Given the description of an element on the screen output the (x, y) to click on. 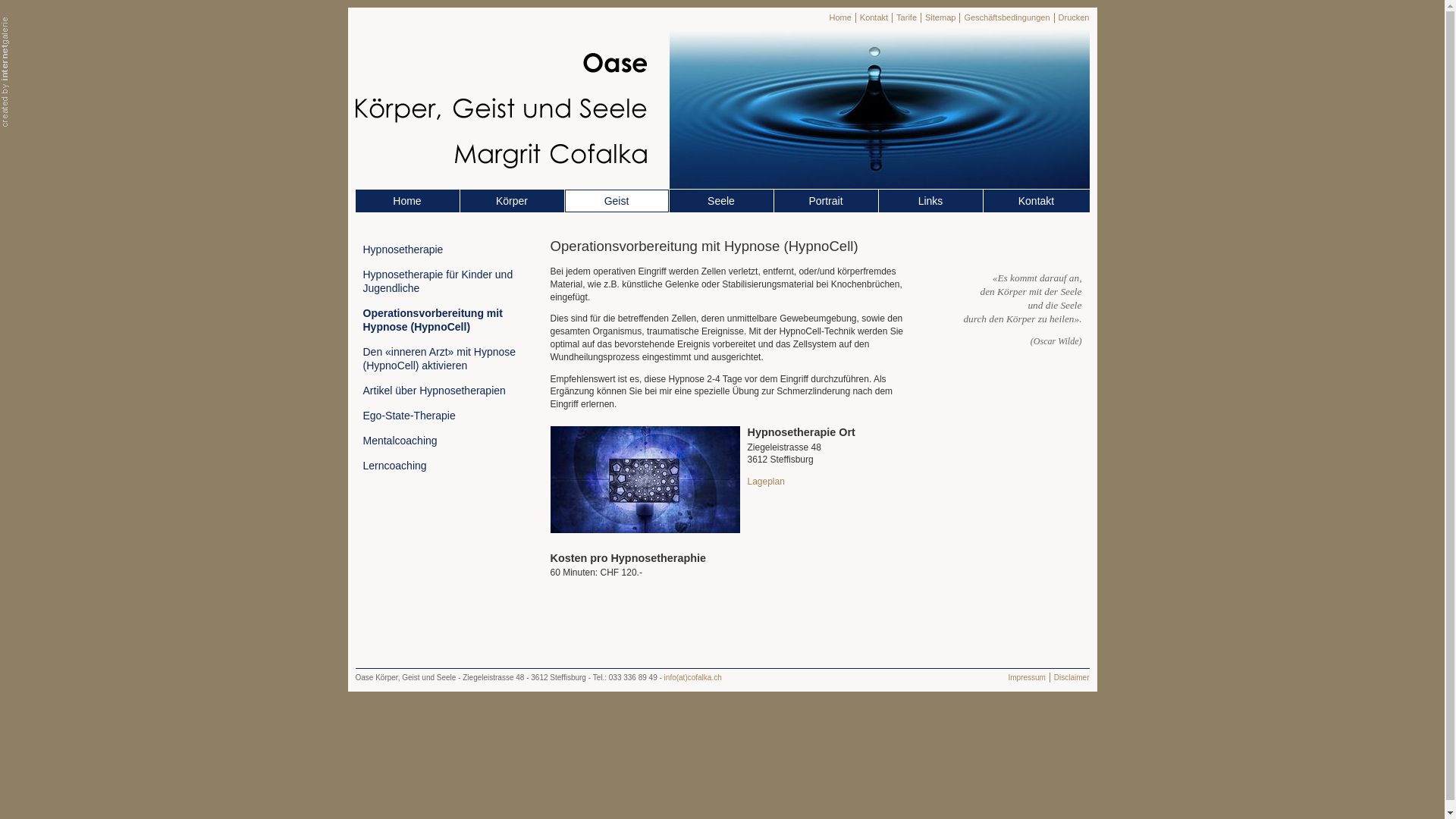
Hypnosetherapie Element type: text (440, 249)
Lageplan Element type: text (765, 481)
Ego-State-Therapie Element type: text (440, 415)
Geist Element type: text (616, 200)
Operationsvorbereitung mit Hypnose (HypnoCell) Element type: text (440, 319)
Mentalcoaching Element type: text (440, 440)
Home Element type: text (839, 17)
Seele Element type: text (721, 200)
Drucken Element type: text (1073, 17)
Kontakt Element type: text (873, 17)
Links Element type: text (930, 200)
Portrait Element type: text (826, 200)
Lerncoaching Element type: text (440, 465)
Kontakt Element type: text (1036, 200)
Tarife Element type: text (906, 17)
TYPO3 Agentur Bern, Thun, ganze Schweiz Element type: hover (5, 70)
Sitemap Element type: text (940, 17)
info(at)cofalka.ch Element type: text (692, 677)
Disclaimer Element type: text (1071, 677)
Impressum Element type: text (1025, 677)
Home Element type: text (407, 200)
